Given the description of an element on the screen output the (x, y) to click on. 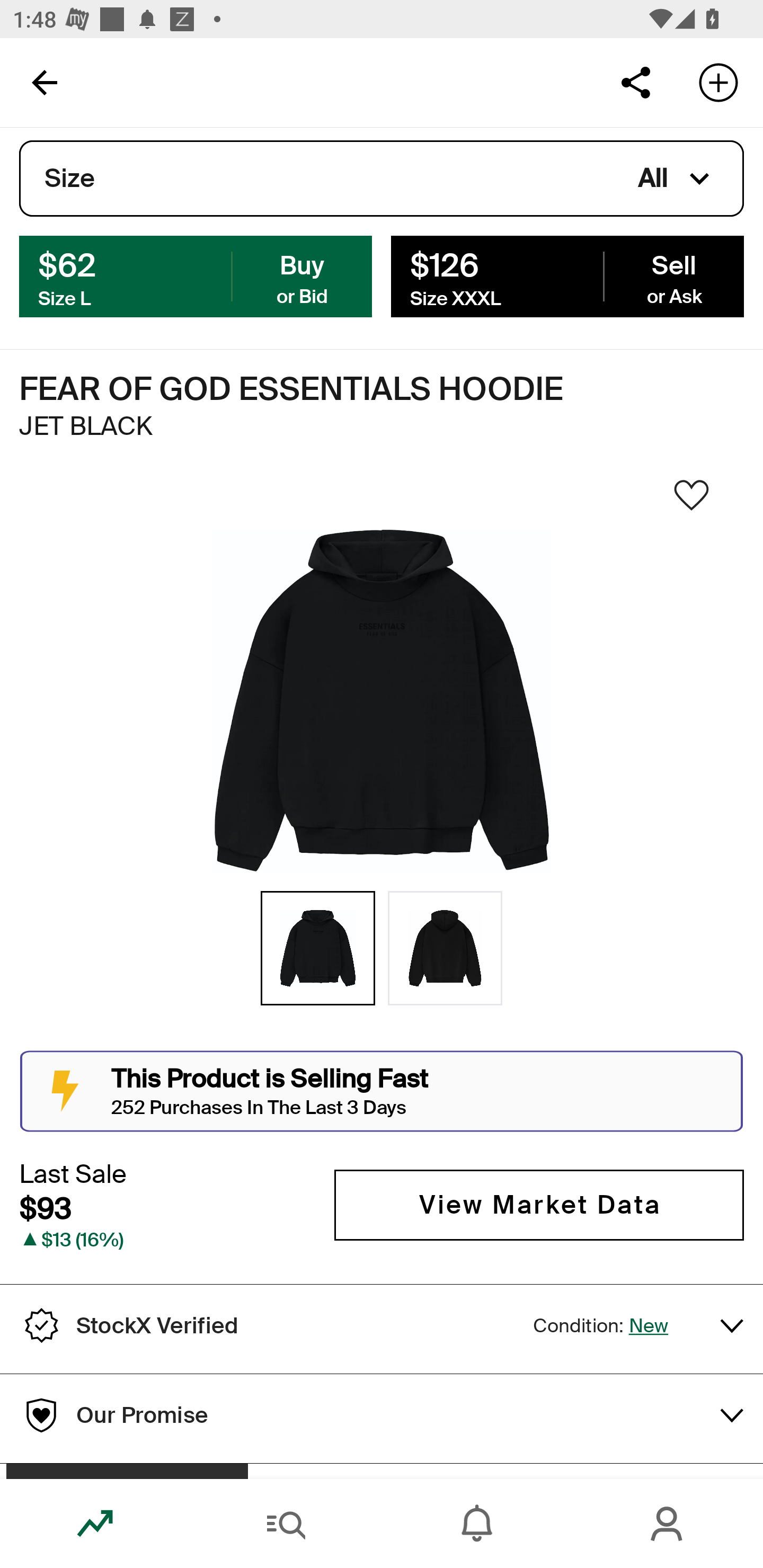
Share (635, 81)
Add (718, 81)
Size All (381, 178)
$62 Buy Size L or Bid (195, 275)
$126 Sell Size XXXL or Ask (566, 275)
Sneaker Image (381, 699)
View Market Data (538, 1204)
Search (285, 1523)
Inbox (476, 1523)
Account (667, 1523)
